Given the description of an element on the screen output the (x, y) to click on. 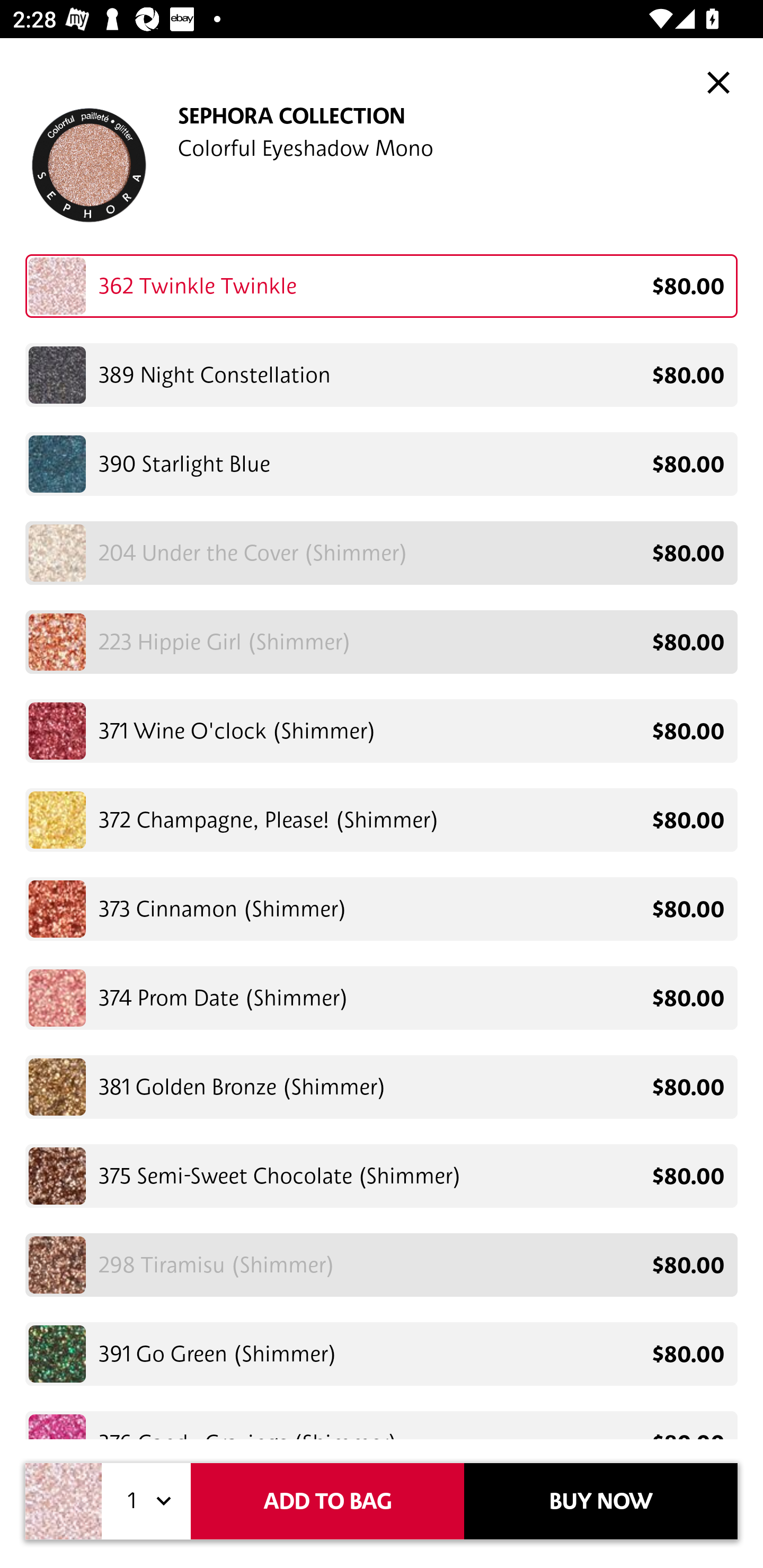
image description (718, 81)
SEPHORA COLLECTION Colorful Eyeshadow Mono (381, 164)
362 Twinkle Twinkle $80.00 (381, 289)
389 Night Constellation $80.00 (381, 375)
390 Starlight Blue $80.00 (381, 463)
204 Under the Cover (Shimmer) $80.00 (381, 552)
223 Hippie Girl (Shimmer) $80.00 (381, 641)
371 Wine O'clock (Shimmer) $80.00 (381, 731)
372 Champagne, Please! (Shimmer) $80.00 (381, 819)
373 Cinnamon (Shimmer) $80.00 (381, 908)
374 Prom Date (Shimmer) $80.00 (381, 997)
381 Golden Bronze (Shimmer) $80.00 (381, 1086)
375 Semi-Sweet Chocolate (Shimmer) $80.00 (381, 1175)
298 Tiramisu (Shimmer) $80.00 (381, 1264)
391 Go Green (Shimmer) $80.00 (381, 1353)
1 (145, 1500)
ADD TO BAG (326, 1500)
BUY NOW (600, 1500)
